Given the description of an element on the screen output the (x, y) to click on. 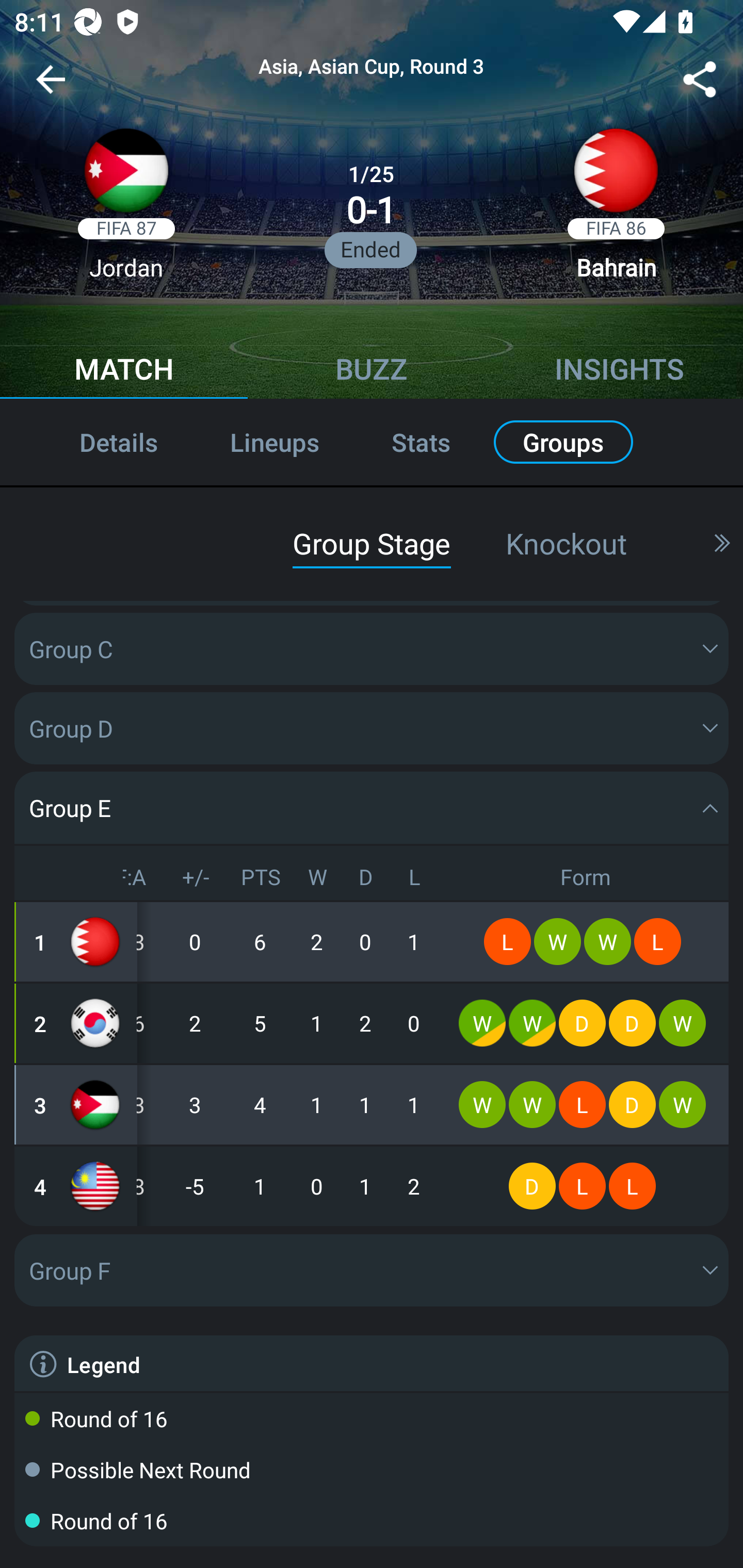
Navigate up (50, 86)
Asia, Asian Cup, Round 3 (371, 66)
Share (699, 82)
FIFA 87 Jordan (126, 210)
FIFA 86 Bahrain (616, 210)
MATCH (123, 371)
BUZZ (371, 371)
INSIGHTS (619, 371)
Details (96, 442)
Lineups (274, 442)
Stats (420, 442)
Knockout (566, 543)
Group C (371, 649)
Group D (371, 728)
Group E (371, 807)
1 3:3 0 6 2 0 1 L W W L (371, 941)
2 8:6 2 5 1 2 0 W W D D W (371, 1023)
3 6:3 3 4 1 1 1 W W L D W (371, 1104)
4 3:8 -5 1 0 1 2 D L L (371, 1186)
Group F (371, 1270)
